Given the description of an element on the screen output the (x, y) to click on. 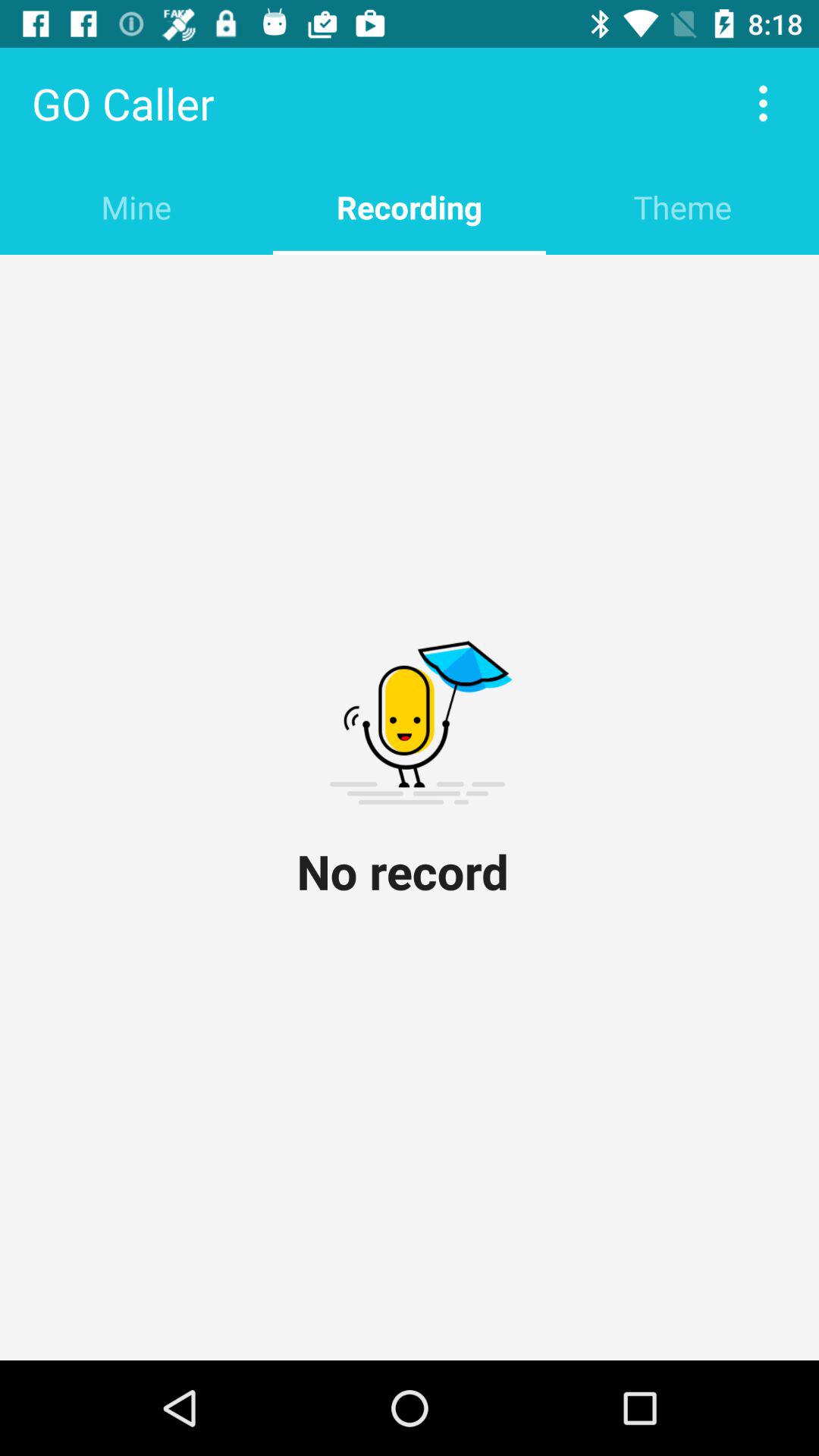
turn off item to the left of recording item (136, 206)
